Given the description of an element on the screen output the (x, y) to click on. 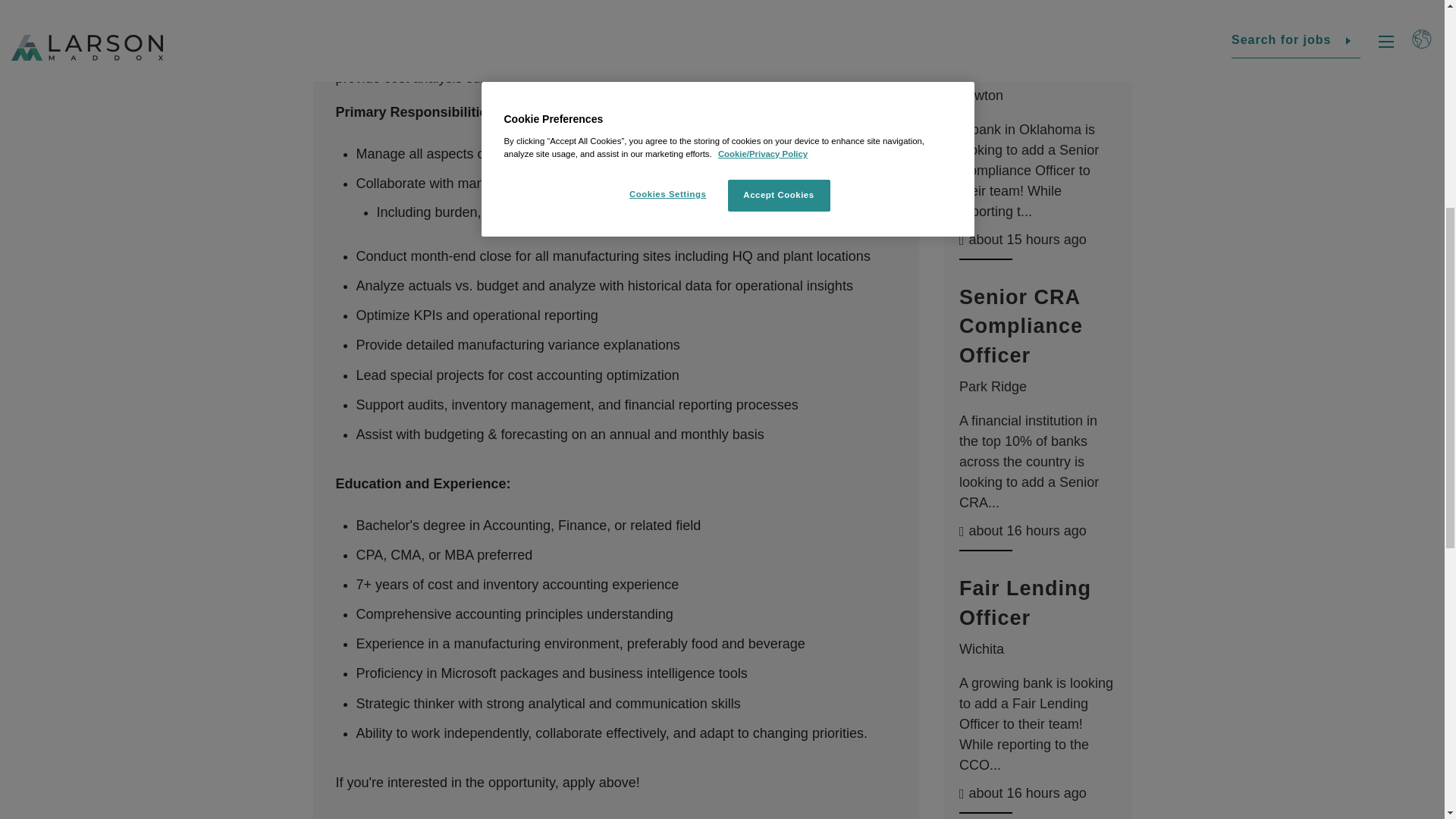
Go to the Homepage (79, 104)
LinkedIn (1256, 243)
Instagram (1324, 243)
Who we are (536, 90)
Larson Maddox (79, 104)
YouTube (1359, 243)
WeChat (1393, 243)
Facebook (1222, 243)
Twitter (1291, 243)
